Given the description of an element on the screen output the (x, y) to click on. 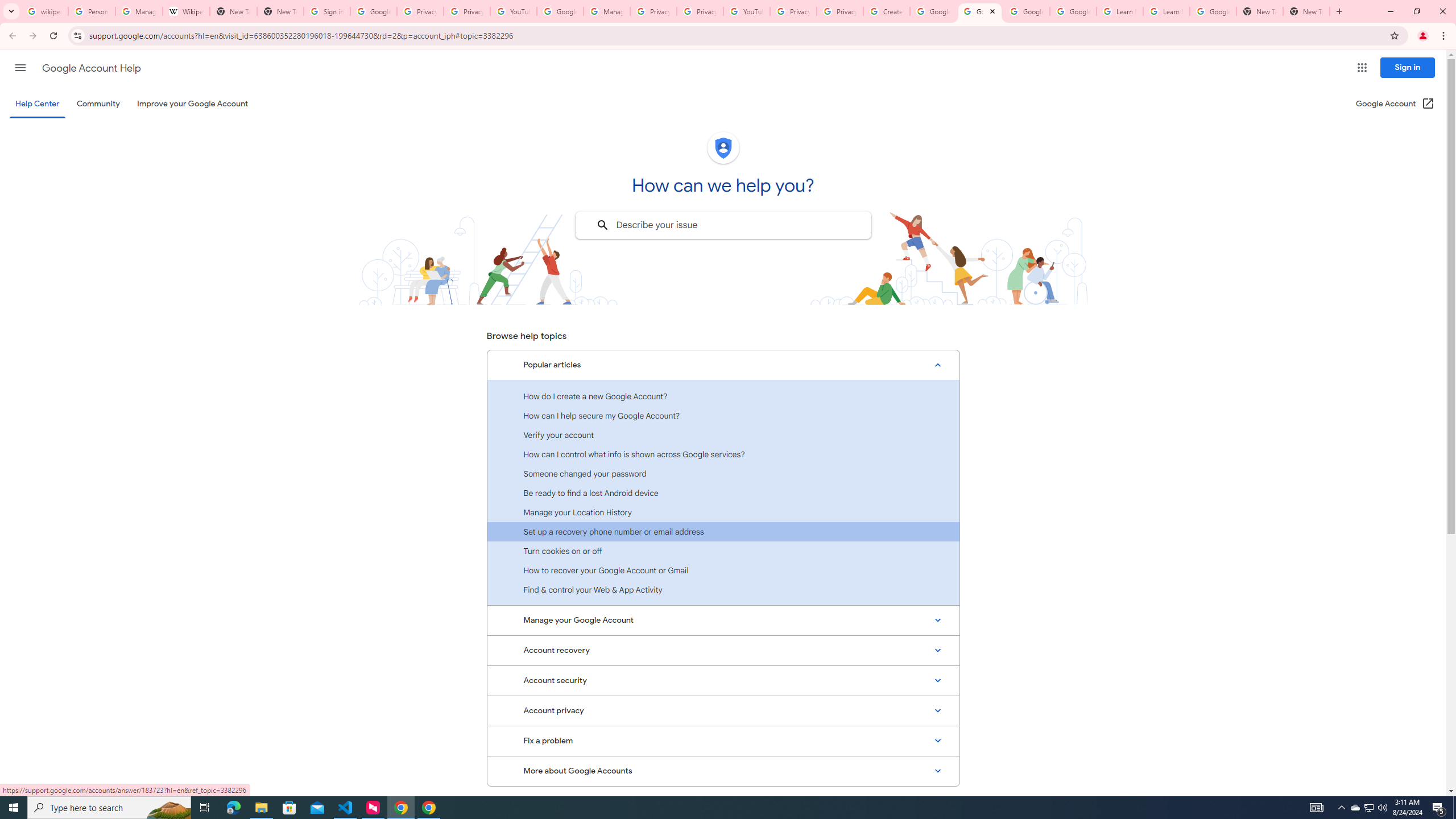
Community (97, 103)
New Tab (279, 11)
Google Account Help (1073, 11)
New Tab (1259, 11)
Google Account Help (933, 11)
Set up a recovery phone number or email address (722, 531)
